Given the description of an element on the screen output the (x, y) to click on. 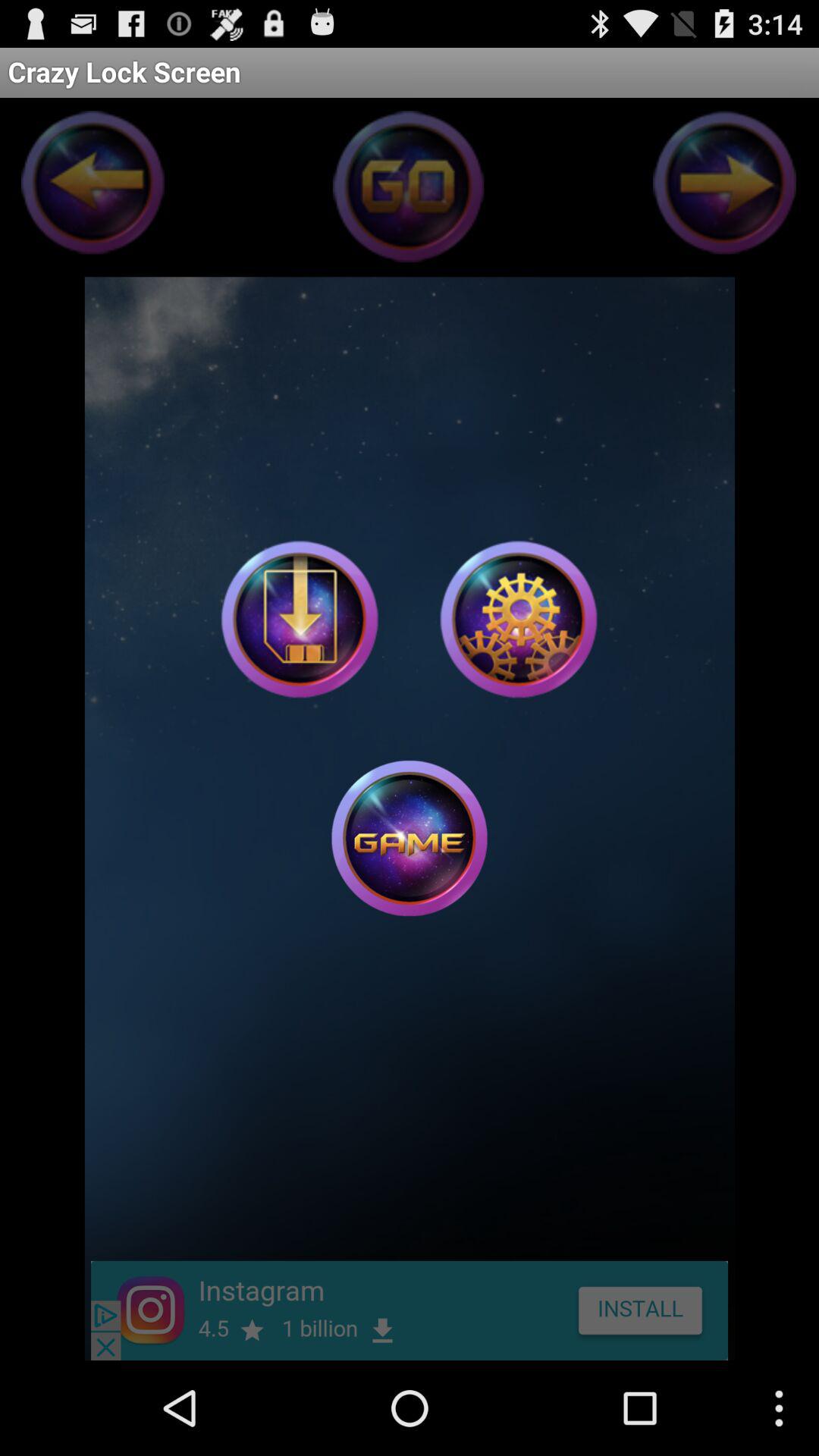
settings (518, 618)
